Given the description of an element on the screen output the (x, y) to click on. 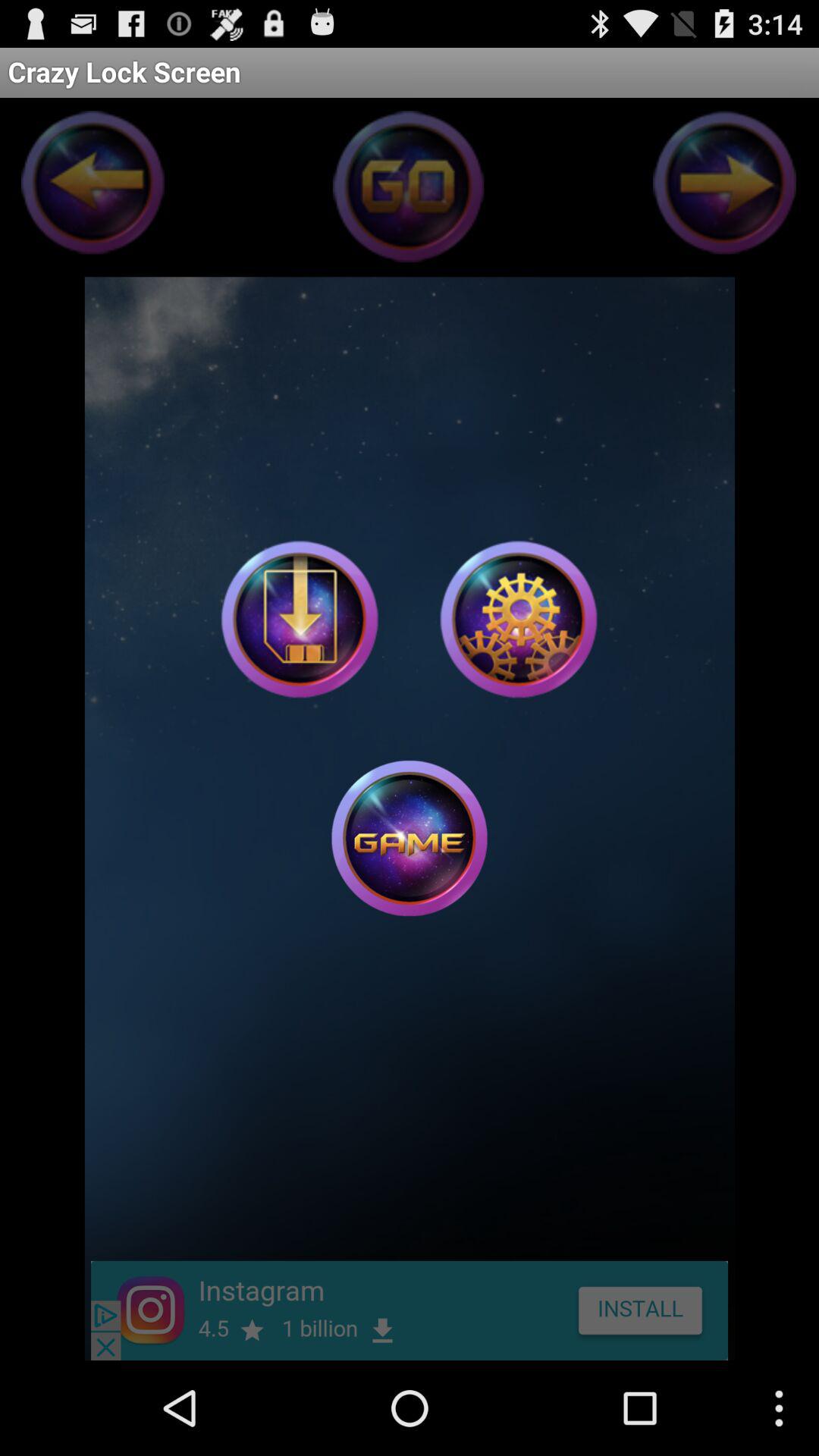
settings (518, 618)
